Given the description of an element on the screen output the (x, y) to click on. 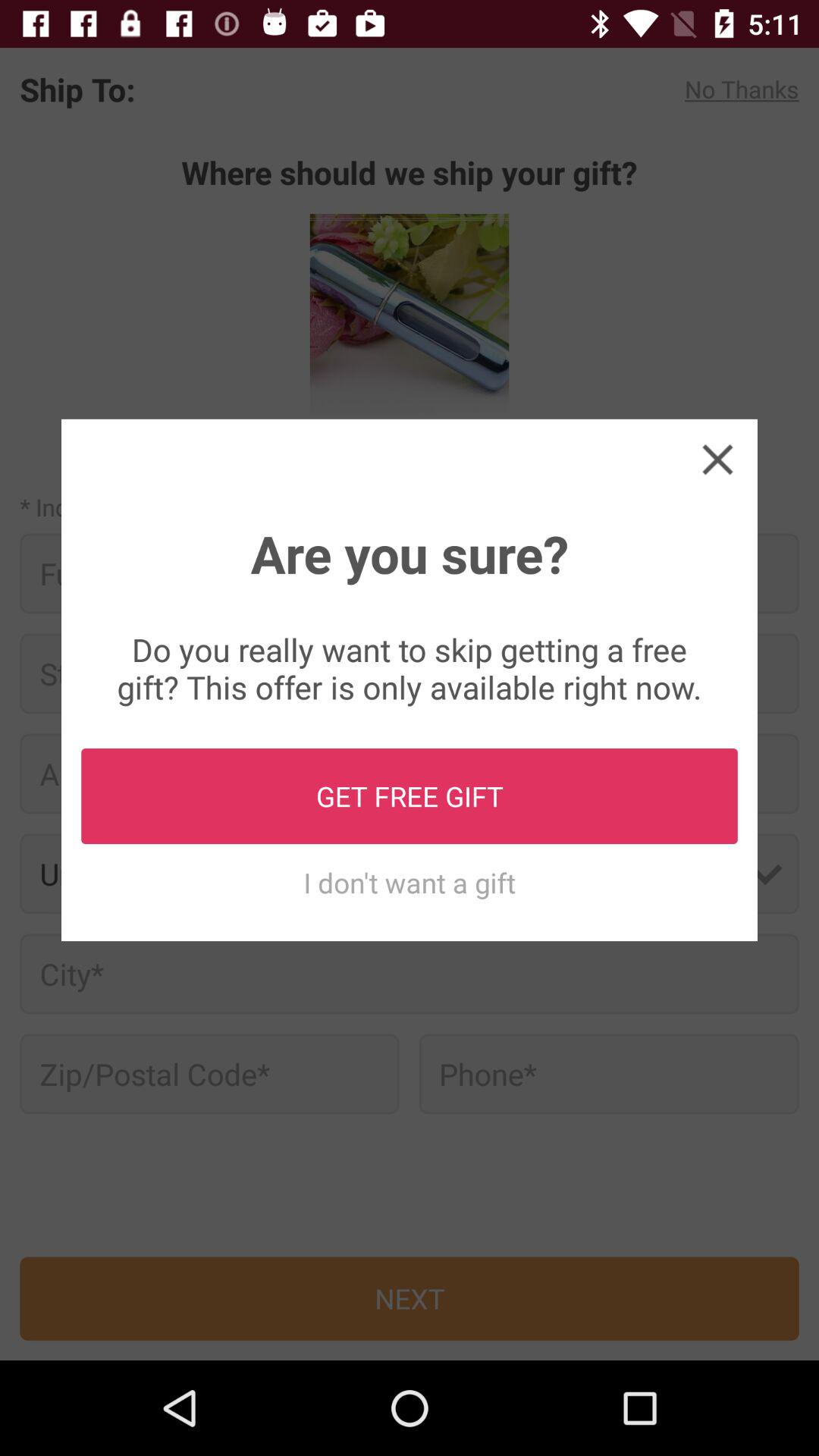
turn on the icon at the top right corner (717, 458)
